Given the description of an element on the screen output the (x, y) to click on. 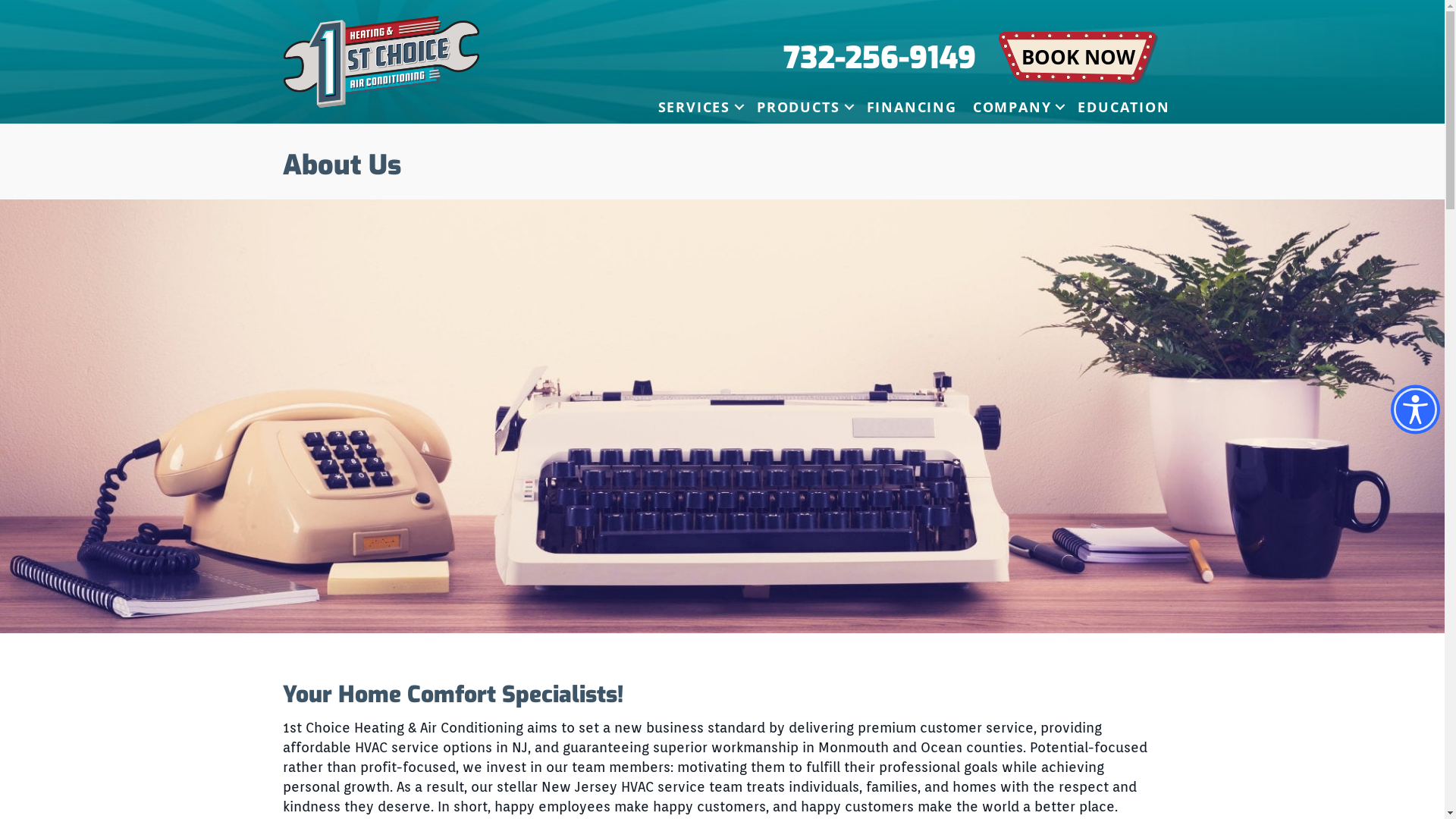
FINANCING Element type: text (910, 106)
EDUCATION Element type: text (1123, 106)
732-256-9149 Element type: text (879, 58)
SERVICES Element type: text (699, 106)
COMPANY Element type: text (1017, 106)
PRODUCTS Element type: text (803, 106)
BOOK NOW Element type: text (1077, 58)
